Given the description of an element on the screen output the (x, y) to click on. 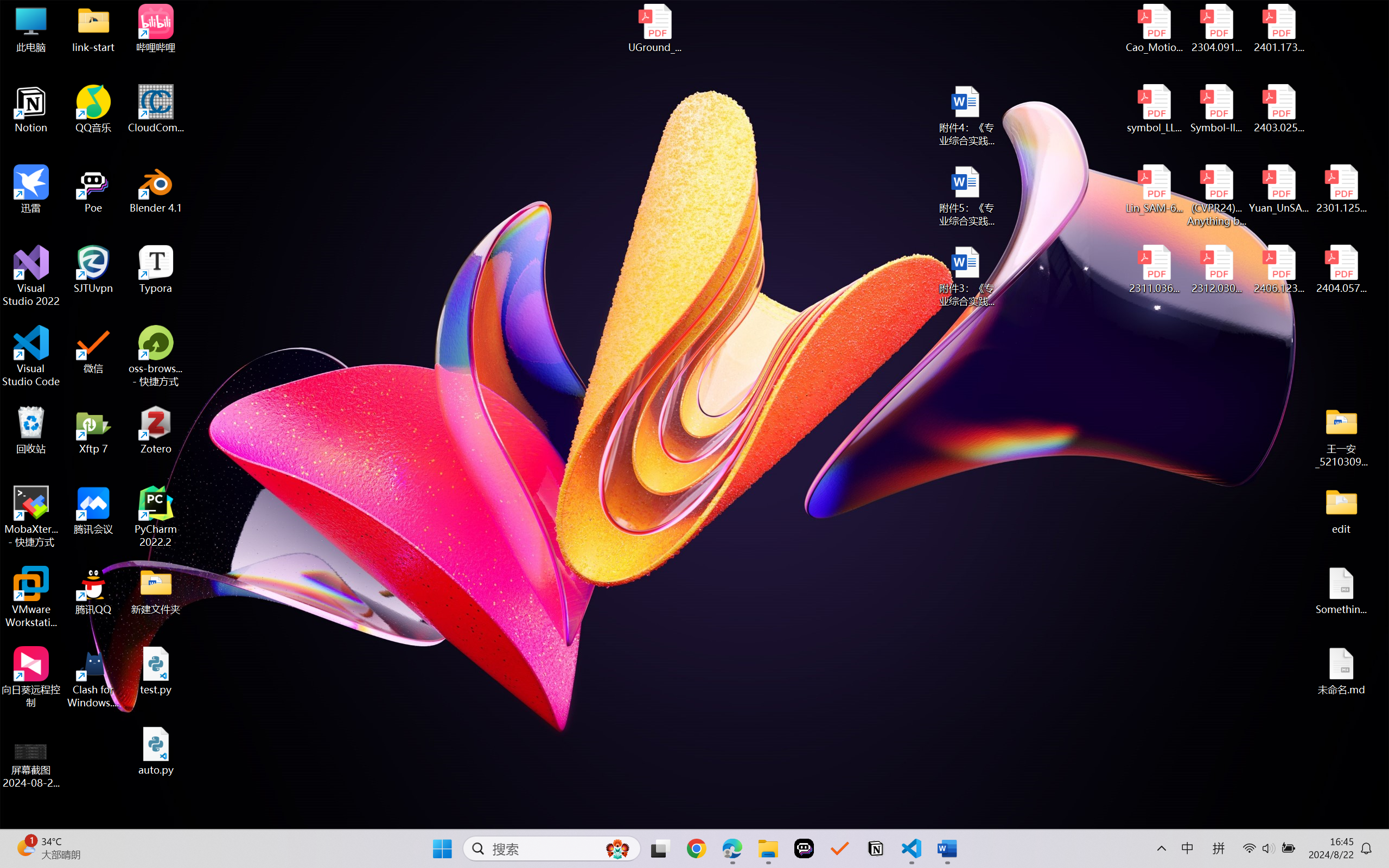
test.py (156, 670)
2301.12597v3.pdf (1340, 189)
SJTUvpn (93, 269)
2401.17399v1.pdf (1278, 28)
symbol_LLM.pdf (1154, 109)
